Given the description of an element on the screen output the (x, y) to click on. 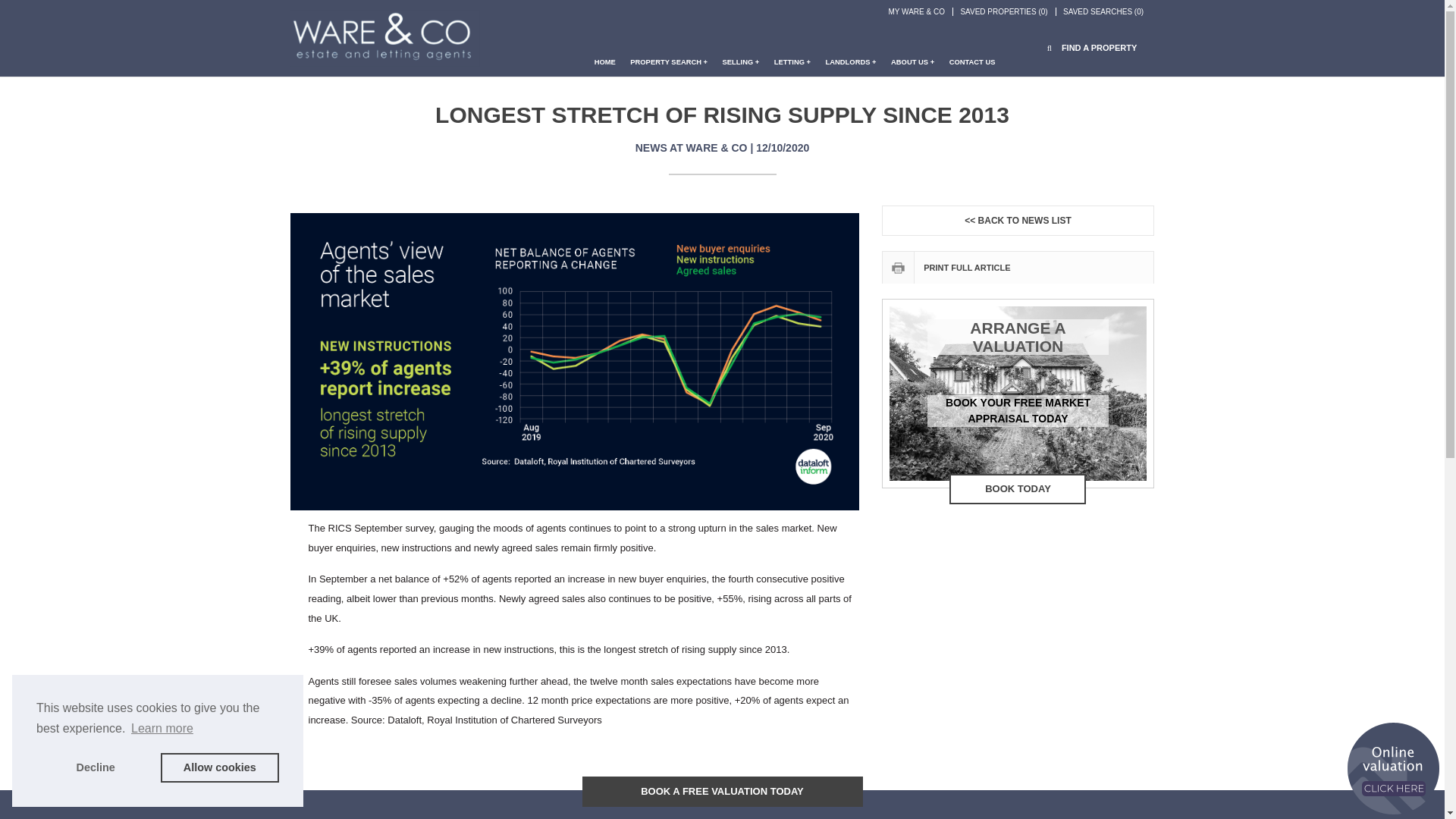
Allow cookies (219, 767)
HOME (604, 69)
Decline (95, 767)
Learn more (162, 728)
